Given the description of an element on the screen output the (x, y) to click on. 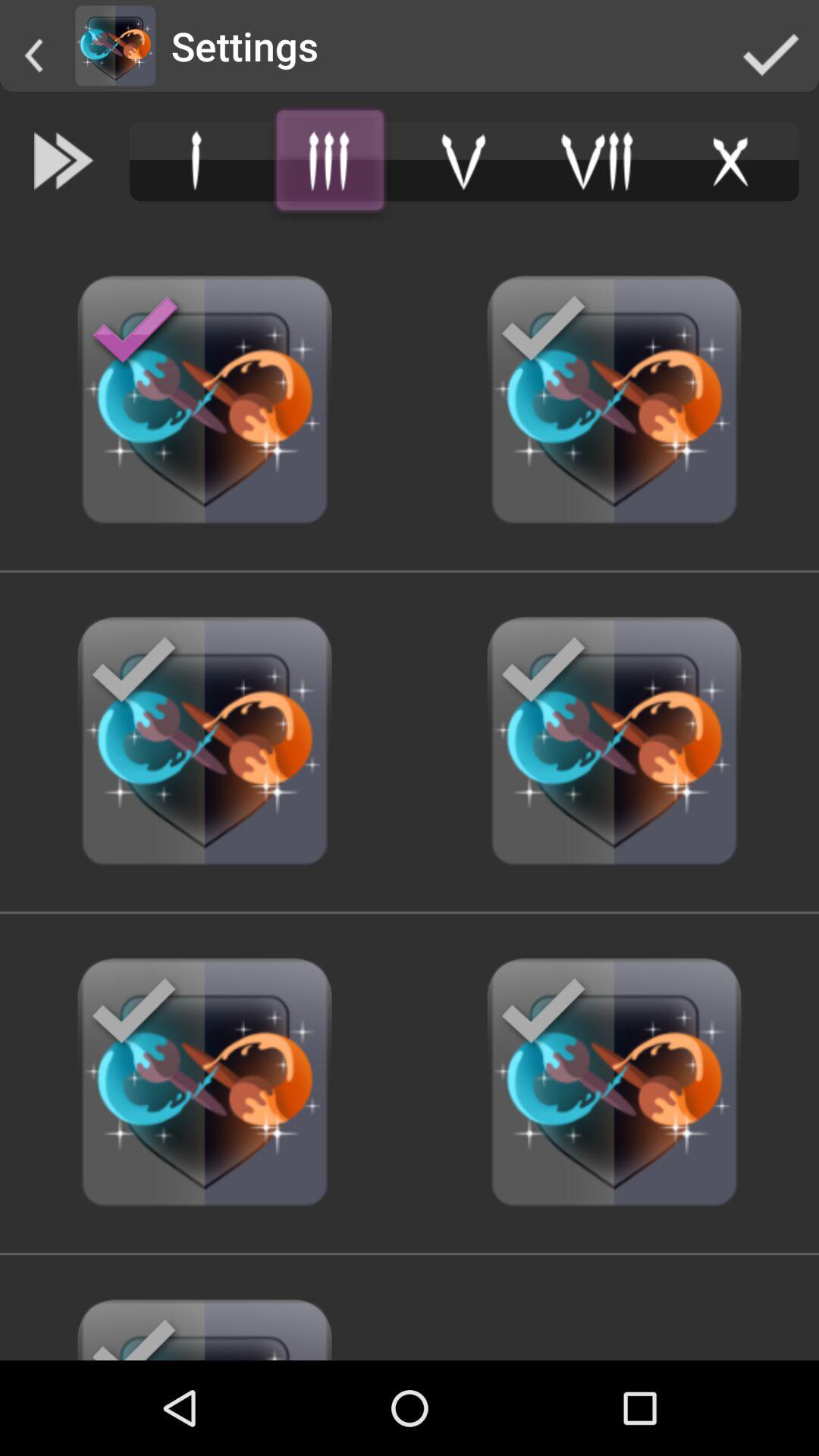
more (329, 161)
